Given the description of an element on the screen output the (x, y) to click on. 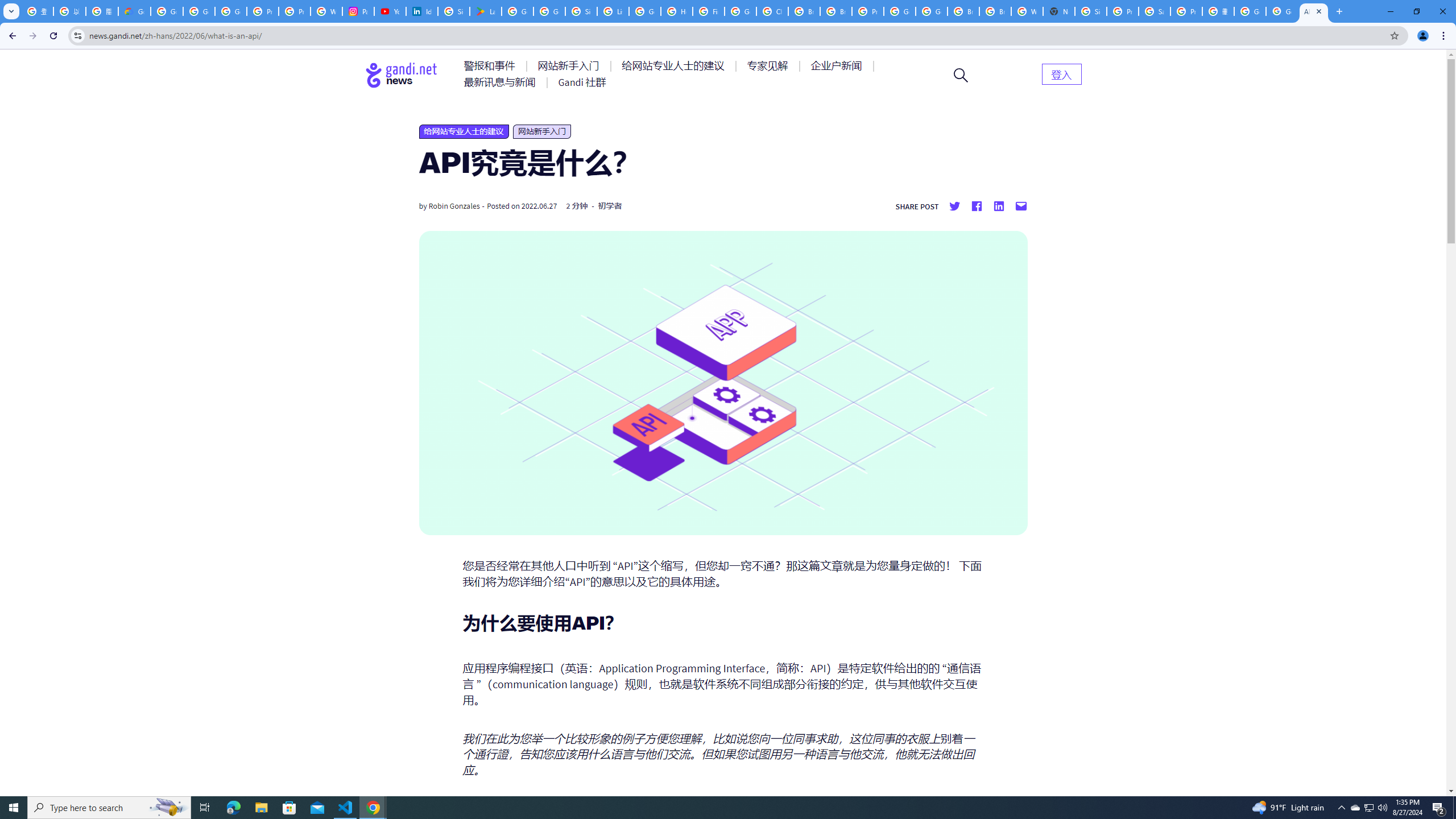
YouTube Culture & Trends - On The Rise: Handcam Videos (389, 11)
Robin Gonzales (454, 205)
Share on Linkedin (998, 205)
Sign in - Google Accounts (581, 11)
Browse Chrome as a guest - Computer - Google Chrome Help (963, 11)
Share on twitter (953, 205)
